Given the description of an element on the screen output the (x, y) to click on. 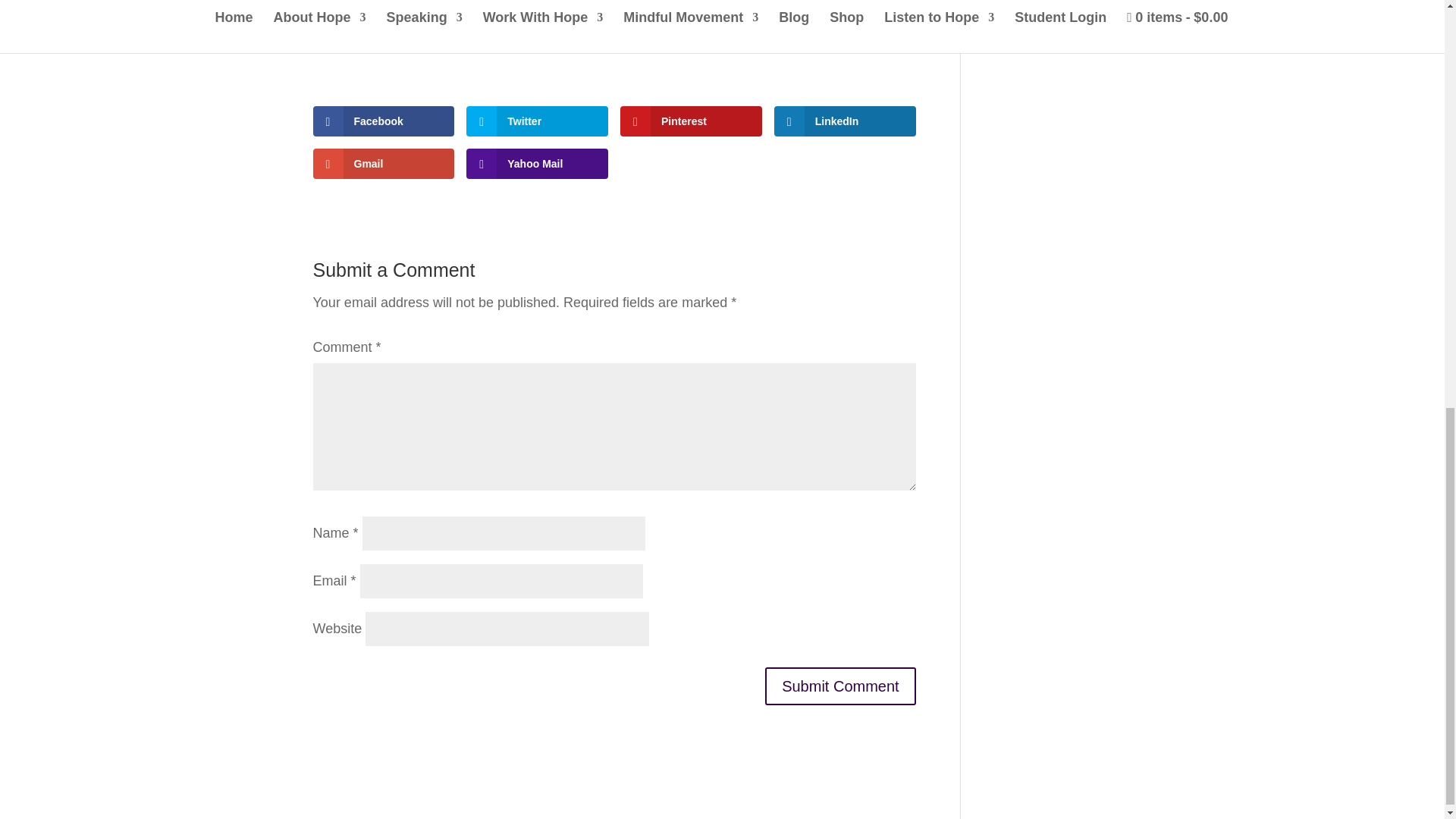
Gmail (383, 163)
Yahoo Mail (536, 163)
Submit Comment (840, 686)
LinkedIn (844, 121)
Twitter (536, 121)
Submit Comment (840, 686)
Facebook (383, 121)
Pinterest (690, 121)
